Given the description of an element on the screen output the (x, y) to click on. 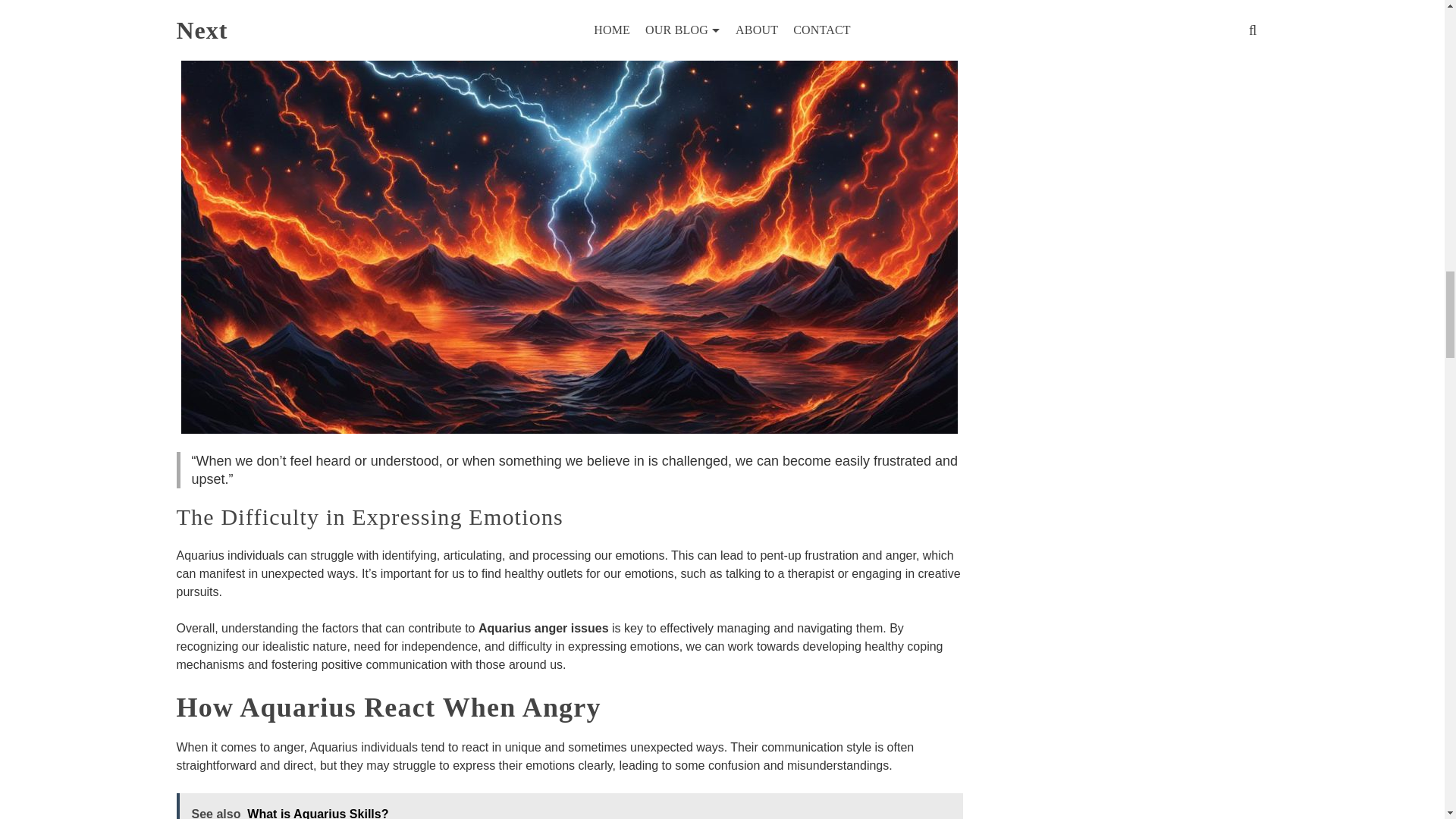
See also  What is Aquarius Skills? (569, 806)
